Given the description of an element on the screen output the (x, y) to click on. 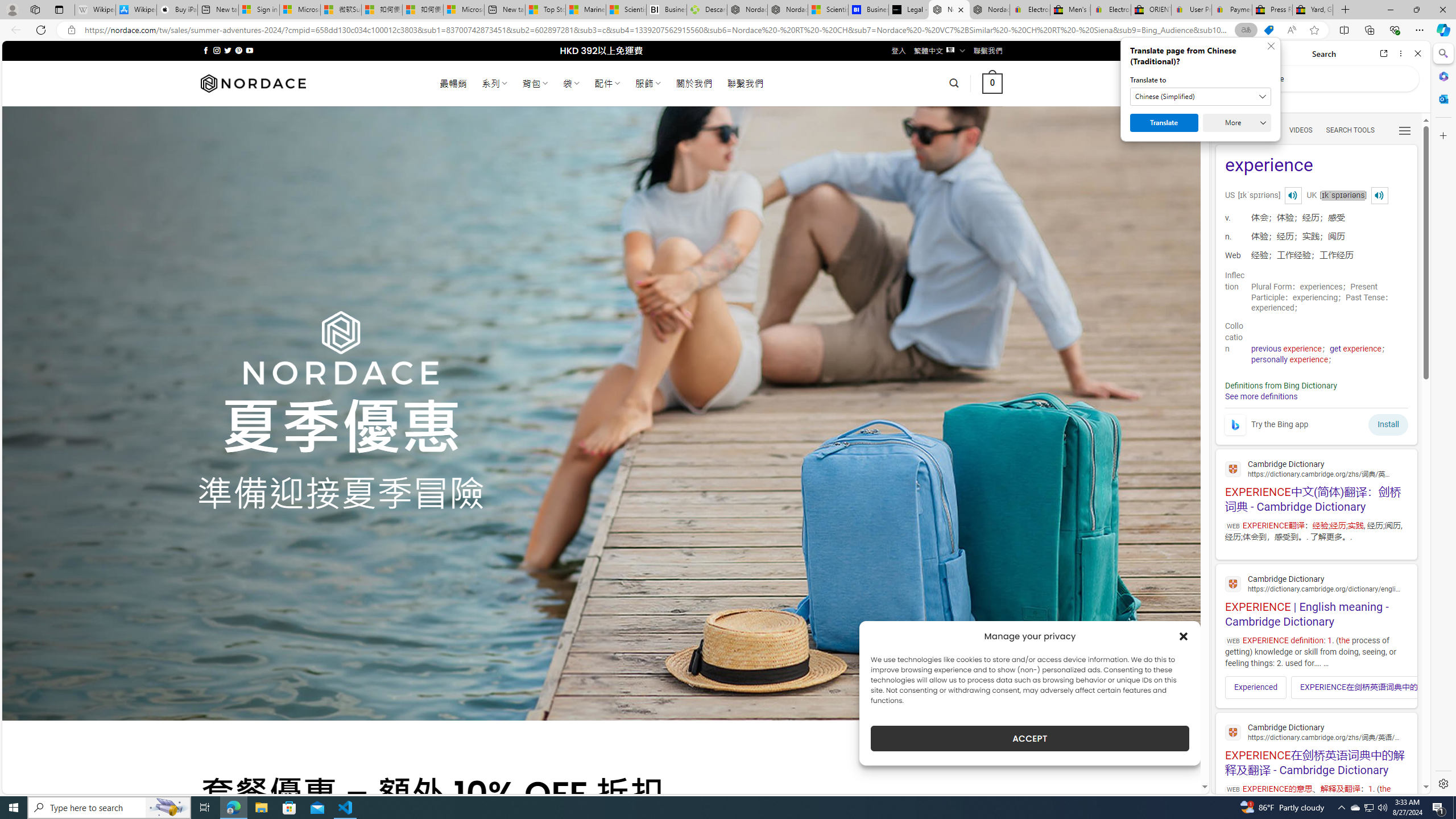
SEARCH TOOLS (1350, 130)
Cambridge Dictionary (1315, 731)
Search Filter, VIDEOS (1300, 129)
Experienced (1256, 687)
Try the Bing app Install (1315, 421)
Class: dict_pnIcon rms_img (1379, 194)
